Given the description of an element on the screen output the (x, y) to click on. 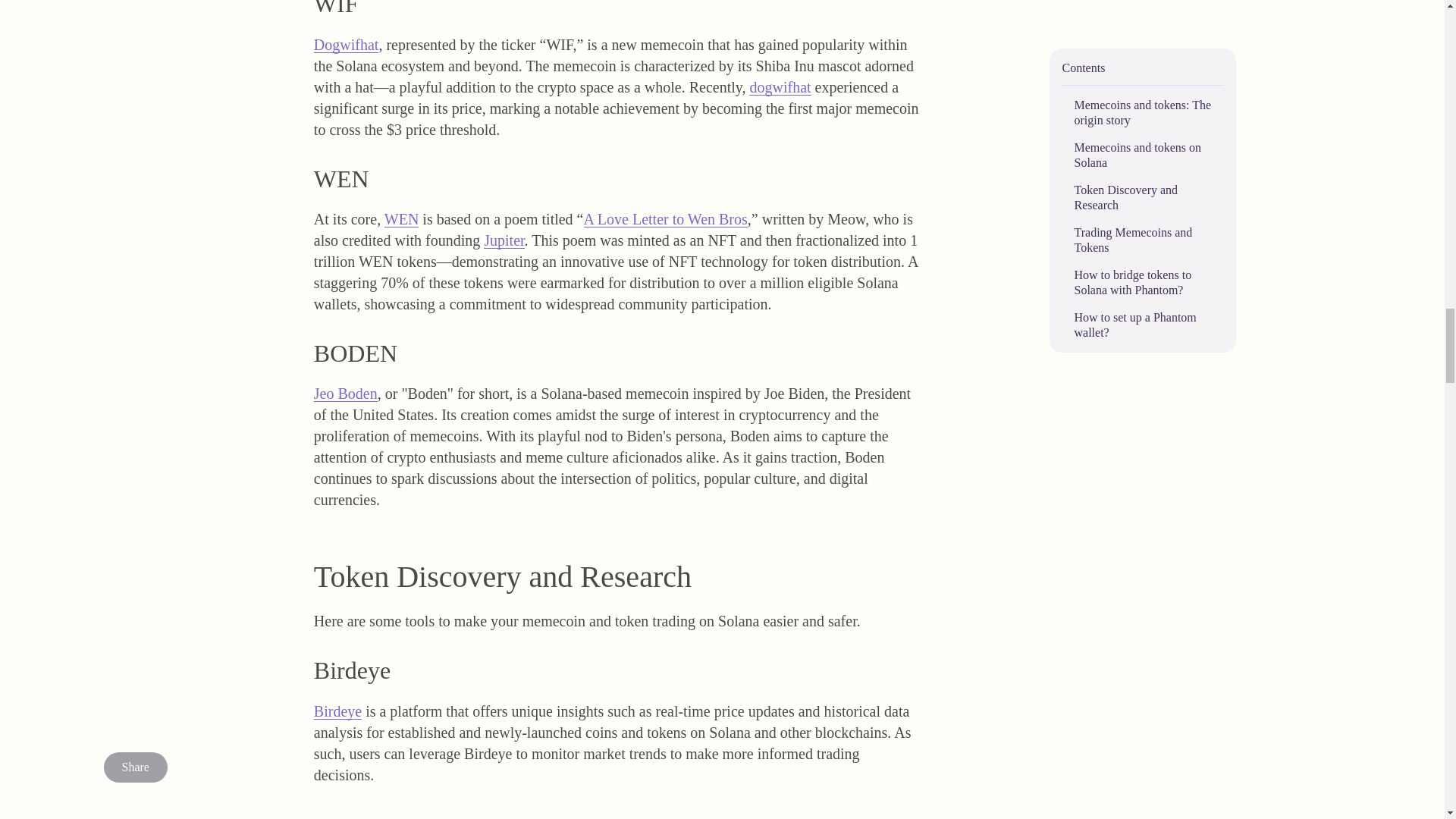
Jeo Boden (345, 393)
Dogwifhat (346, 44)
dogwifhat (779, 79)
Birdeye (337, 710)
A Love Letter to Wen Bros (665, 211)
Jupiter (503, 232)
WEN (401, 218)
